Given the description of an element on the screen output the (x, y) to click on. 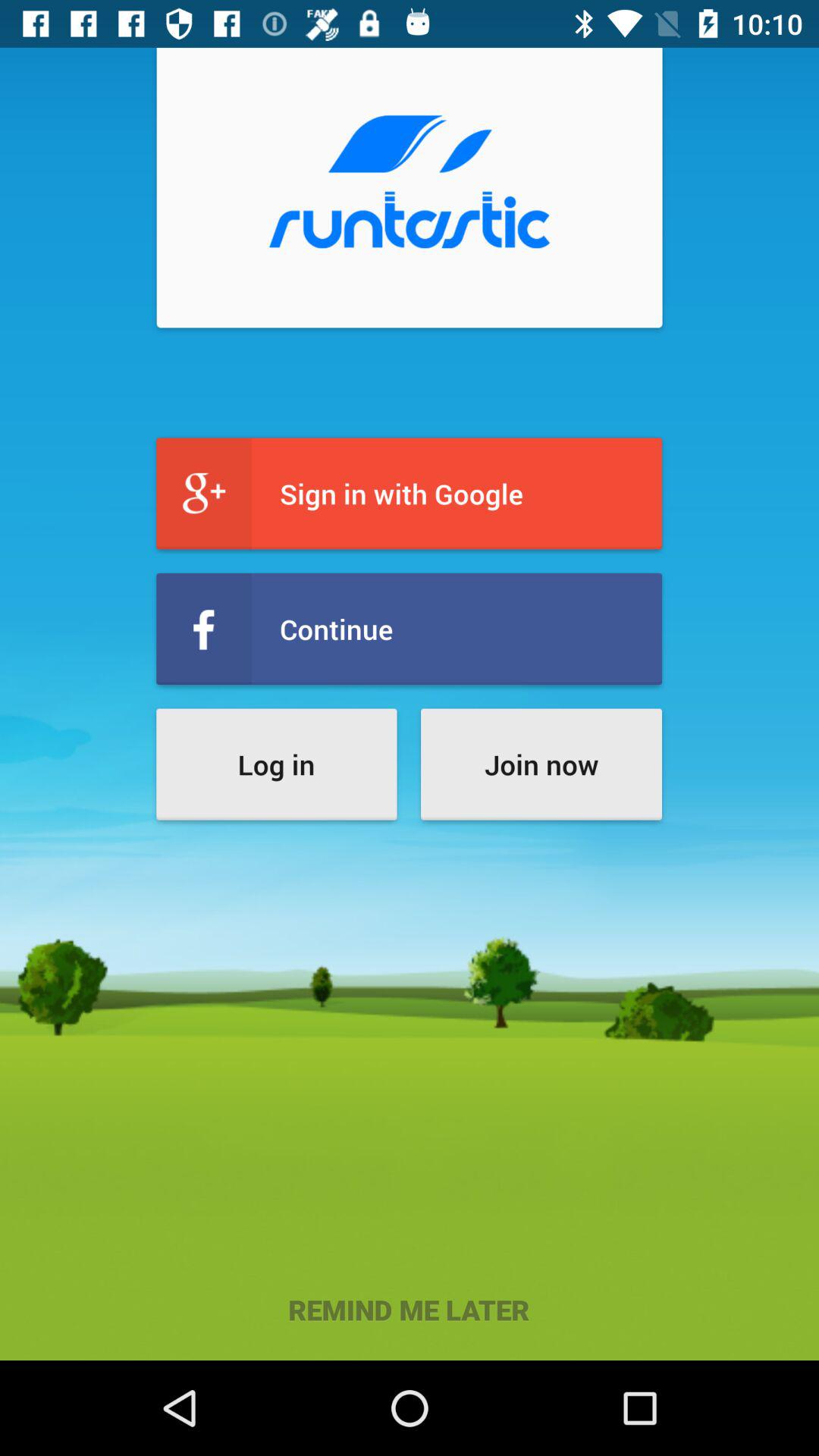
open the item above the log in (409, 628)
